Given the description of an element on the screen output the (x, y) to click on. 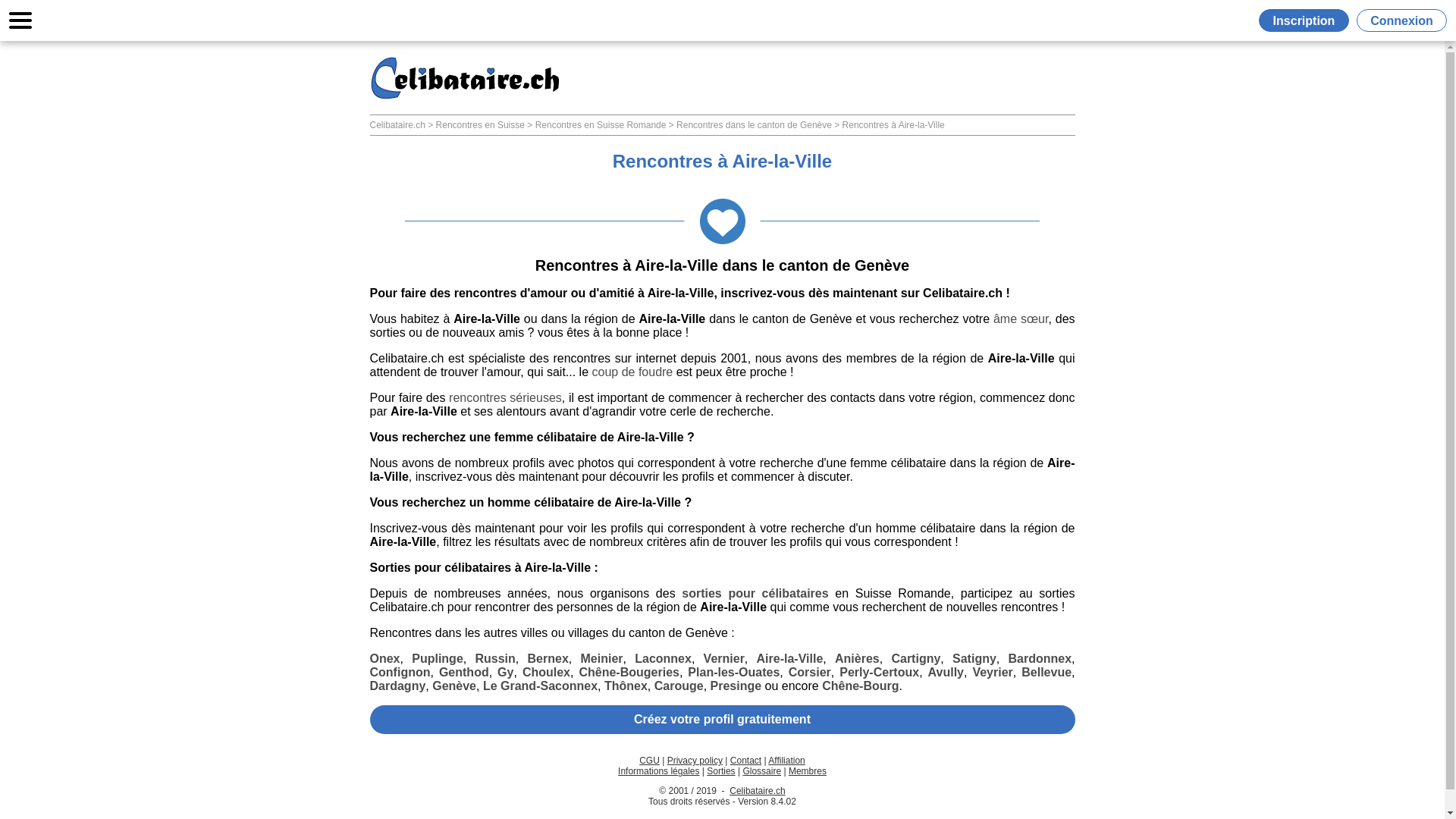
Bardonnex Element type: text (1040, 658)
CGU Element type: text (649, 760)
Rencontres en Suisse Romande Element type: text (600, 124)
Genthod Element type: text (464, 671)
Avully Element type: text (945, 671)
Choulex Element type: text (546, 671)
Carouge Element type: text (678, 685)
Meinier Element type: text (601, 658)
Aire-la-Ville Element type: text (789, 658)
Confignon Element type: text (400, 671)
Inscription Element type: text (1307, 20)
Corsier Element type: text (809, 671)
Bernex Element type: text (547, 658)
Cartigny Element type: text (915, 658)
Connexion Element type: text (1401, 20)
Rencontres en Suisse Romande Element type: hover (464, 78)
Russin Element type: text (494, 658)
Dardagny Element type: text (398, 685)
Rencontres en Suisse Element type: text (480, 124)
Celibataire.ch Element type: text (756, 790)
coup de foudre Element type: text (631, 371)
Celibataire.ch Element type: text (397, 124)
Affiliation Element type: text (786, 760)
Membres Element type: text (807, 770)
Satigny Element type: text (974, 658)
Puplinge Element type: text (437, 658)
Veyrier Element type: text (992, 671)
Perly-Certoux Element type: text (879, 671)
Laconnex Element type: text (662, 658)
Onex Element type: text (385, 658)
Vernier Element type: text (723, 658)
Gy Element type: text (505, 671)
Plan-les-Ouates Element type: text (733, 671)
Contact Element type: text (745, 760)
Presinge Element type: text (736, 685)
Glossaire Element type: text (761, 770)
Le Grand-Saconnex Element type: text (540, 685)
Privacy policy Element type: text (694, 760)
Bellevue Element type: text (1046, 671)
Sorties Element type: text (720, 770)
